Given the description of an element on the screen output the (x, y) to click on. 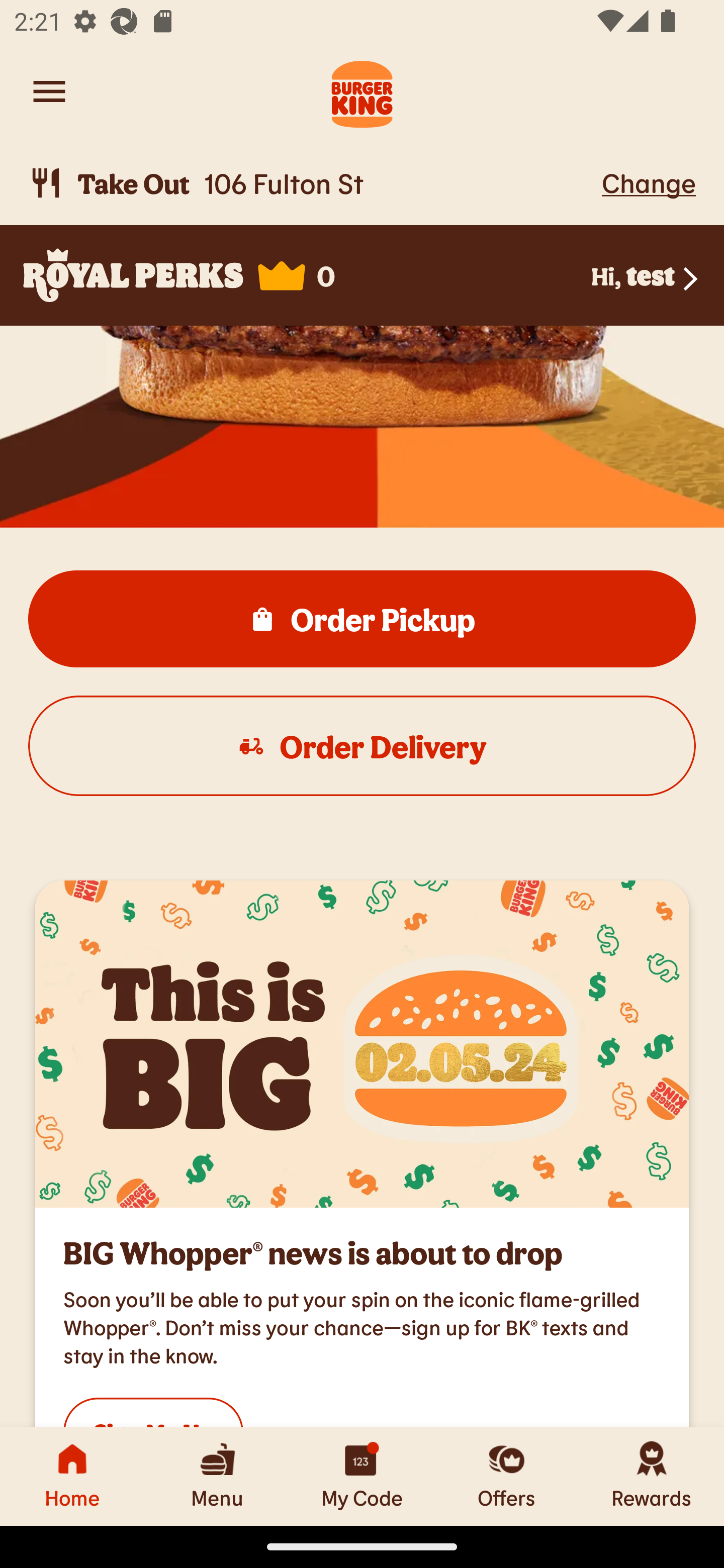
Burger King Logo. Navigate to Home (362, 91)
Navigate to account menu  (49, 91)
Take Out, 106 Fulton St  Take Out 106 Fulton St (311, 183)
Change (648, 182)
, Order Pickup  Order Pickup (361, 618)
, Order Delivery  Order Delivery (361, 746)
MDW Teaser Auth App (361, 1044)
Home (72, 1475)
Menu (216, 1475)
My Code (361, 1475)
Offers (506, 1475)
Rewards (651, 1475)
